Given the description of an element on the screen output the (x, y) to click on. 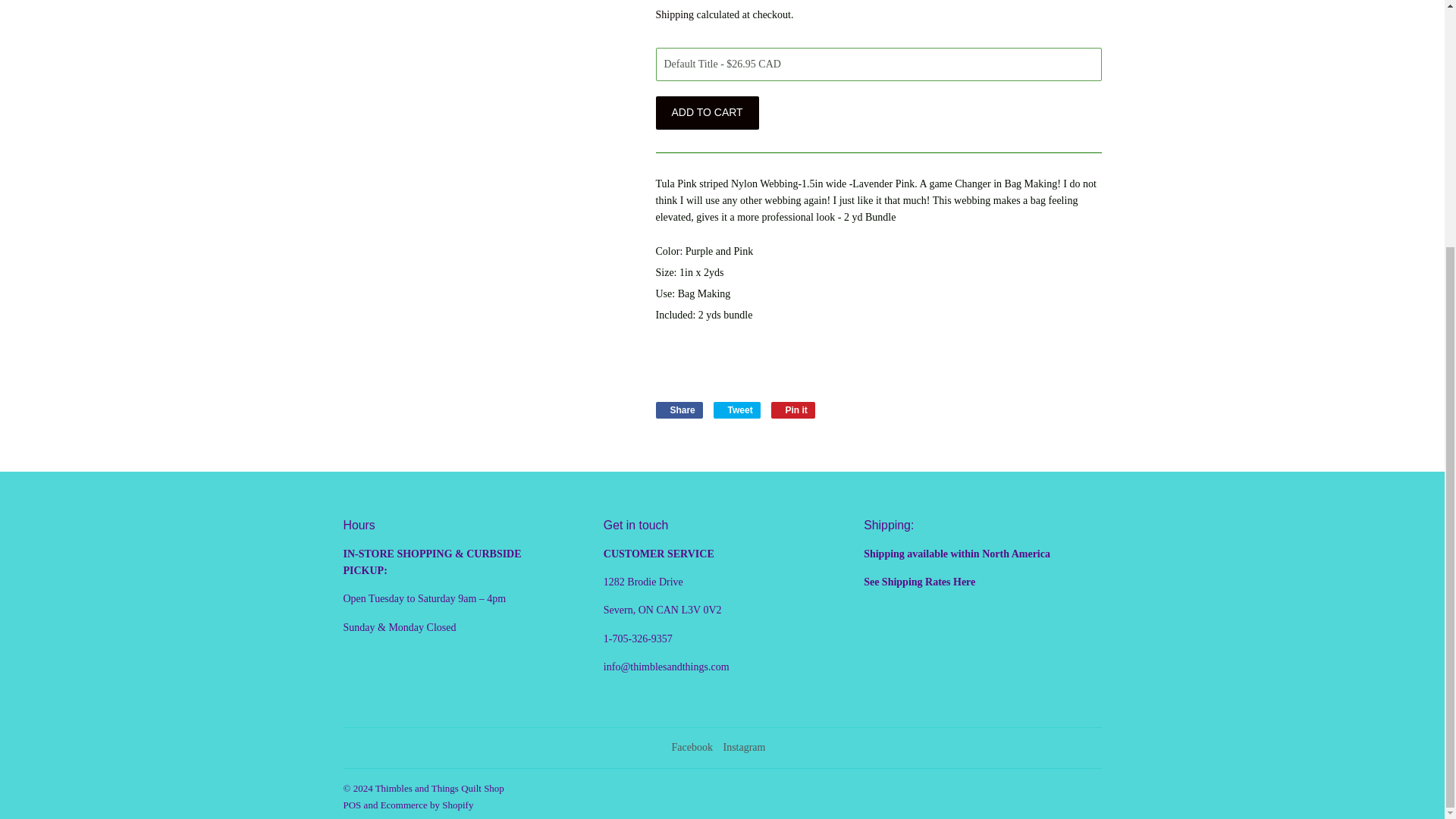
Share on Facebook (678, 410)
Thimbles and Things Quilt Shop on Instagram (743, 747)
Tweet on Twitter (736, 410)
Shop Online (964, 582)
Thimbles and Things Quilt Shop on Facebook (692, 747)
Pin on Pinterest (793, 410)
